Given the description of an element on the screen output the (x, y) to click on. 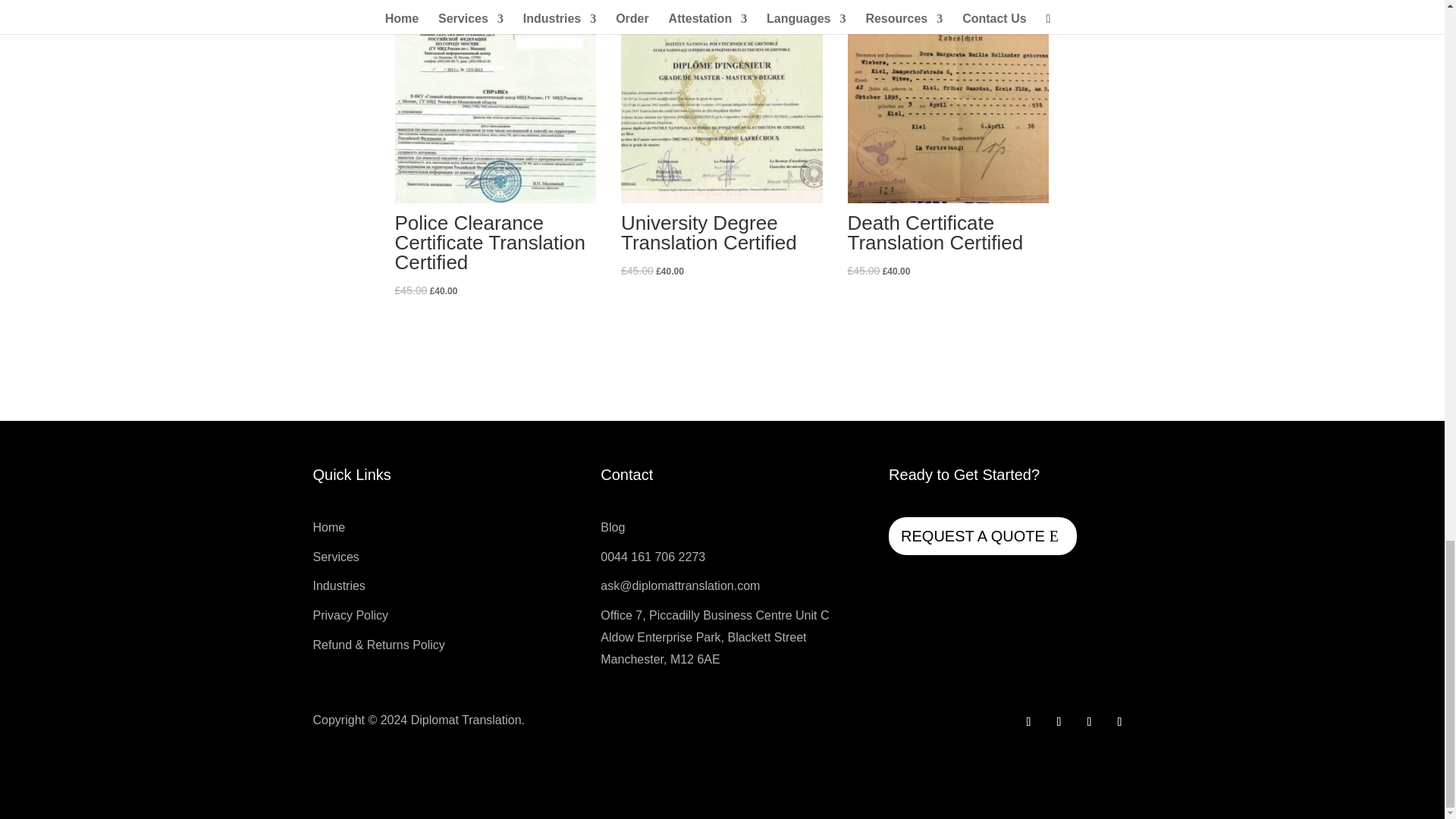
Follow on X (1058, 721)
Follow on Facebook (1028, 721)
Follow on LinkedIn (1118, 721)
Follow on Instagram (1088, 721)
